Given the description of an element on the screen output the (x, y) to click on. 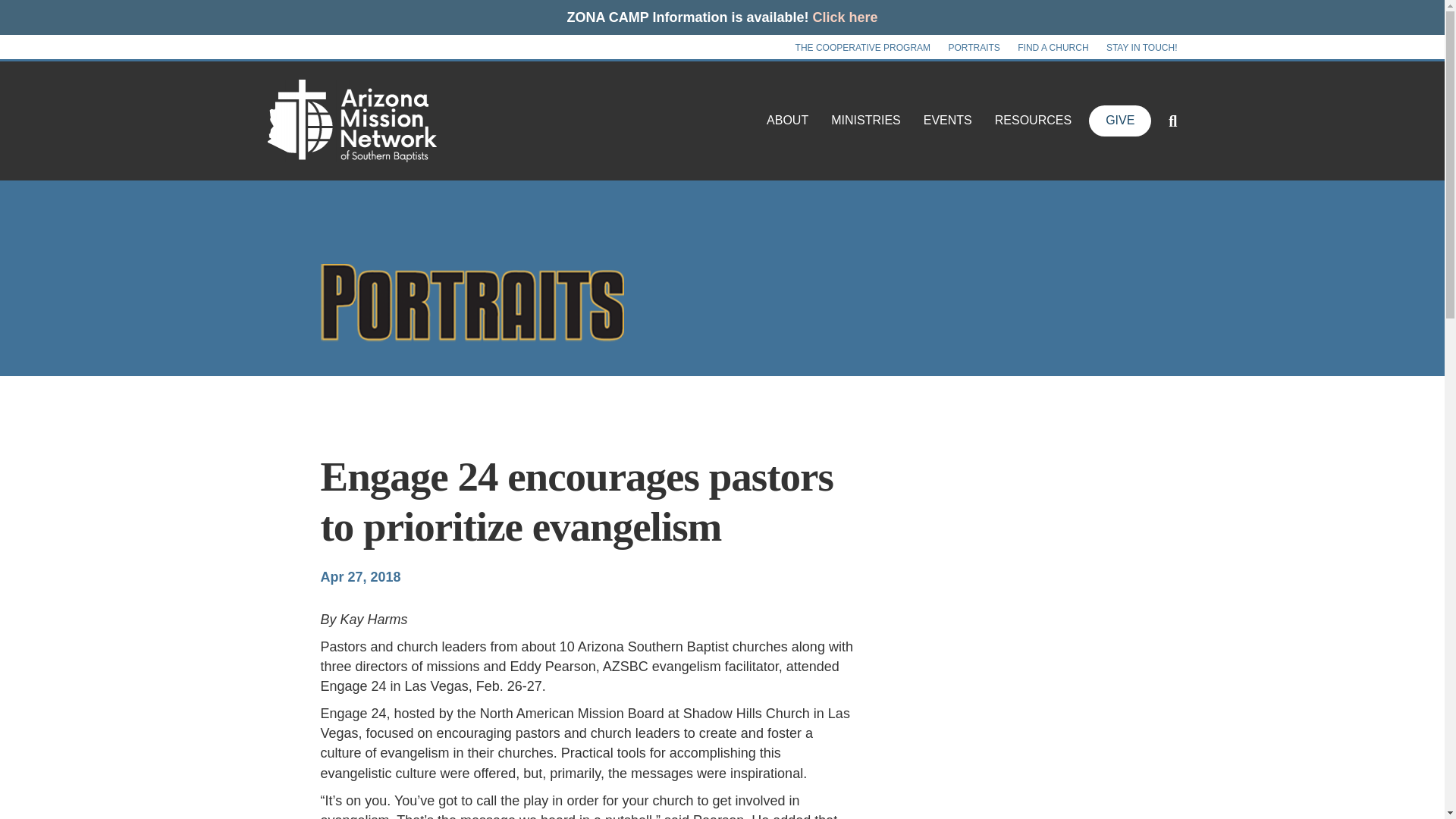
ABOUT (787, 120)
GIVE (1120, 120)
EVENTS (948, 120)
FIND A CHURCH (1053, 47)
PORTRAITS (973, 47)
RESOURCES (1033, 120)
STAY IN TOUCH! (1142, 47)
MINISTRIES (865, 120)
THE COOPERATIVE PROGRAM (862, 47)
Click here (844, 17)
